Given the description of an element on the screen output the (x, y) to click on. 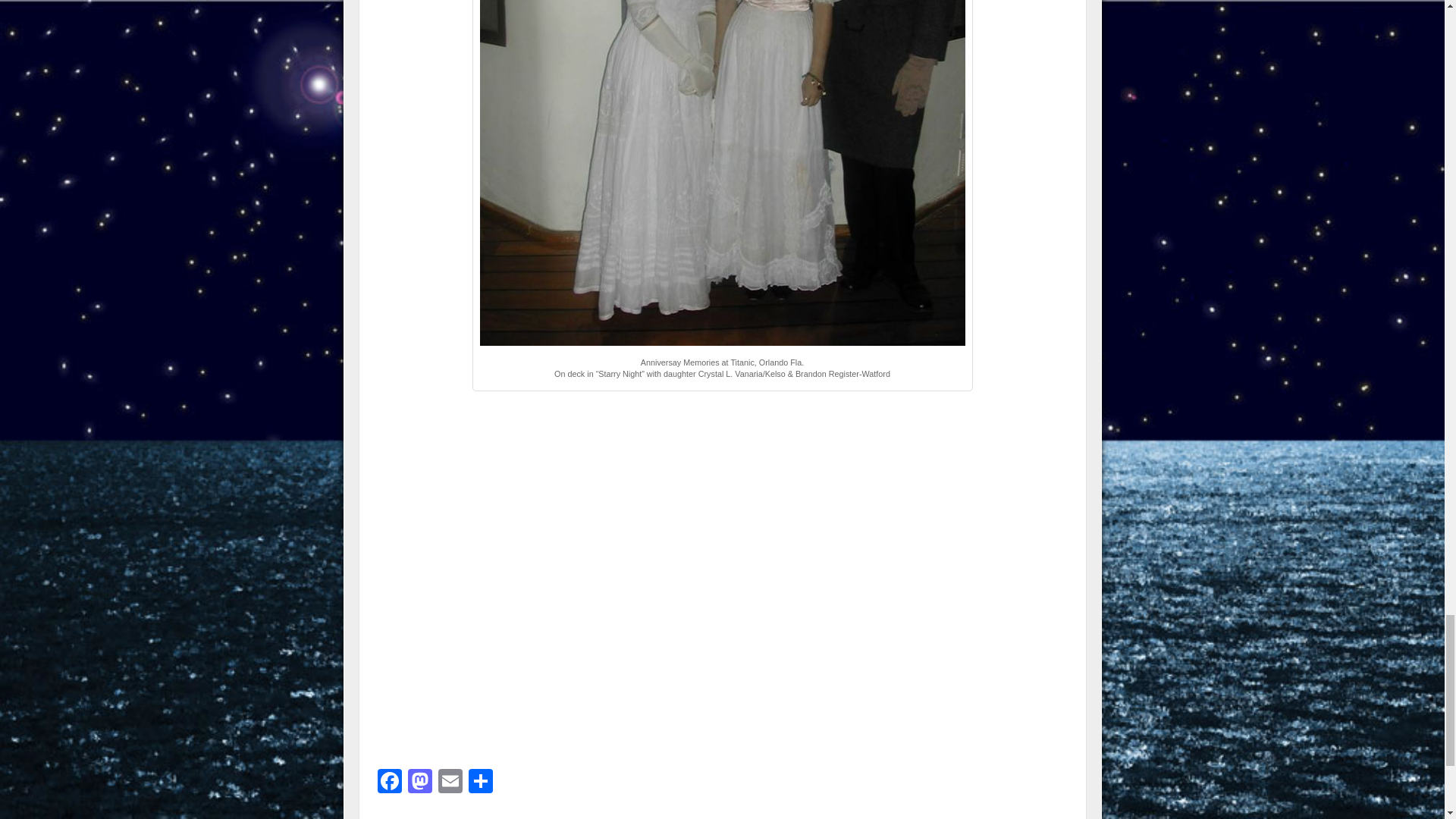
Mastodon (419, 782)
Facebook (389, 782)
Facebook (389, 782)
Share (480, 782)
Email (450, 782)
Mastodon (419, 782)
Email (450, 782)
